Given the description of an element on the screen output the (x, y) to click on. 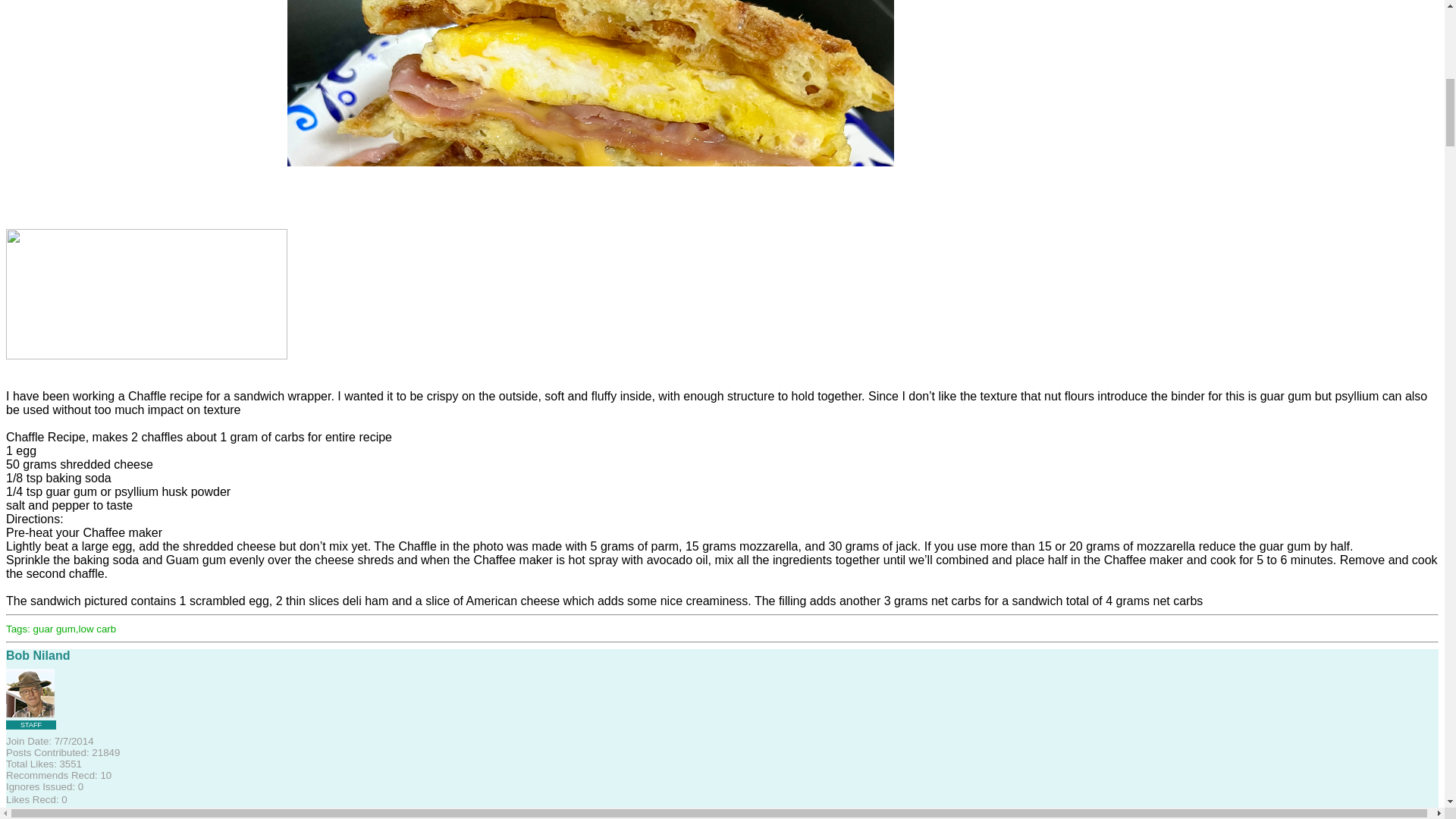
permalink (73, 813)
